Given the description of an element on the screen output the (x, y) to click on. 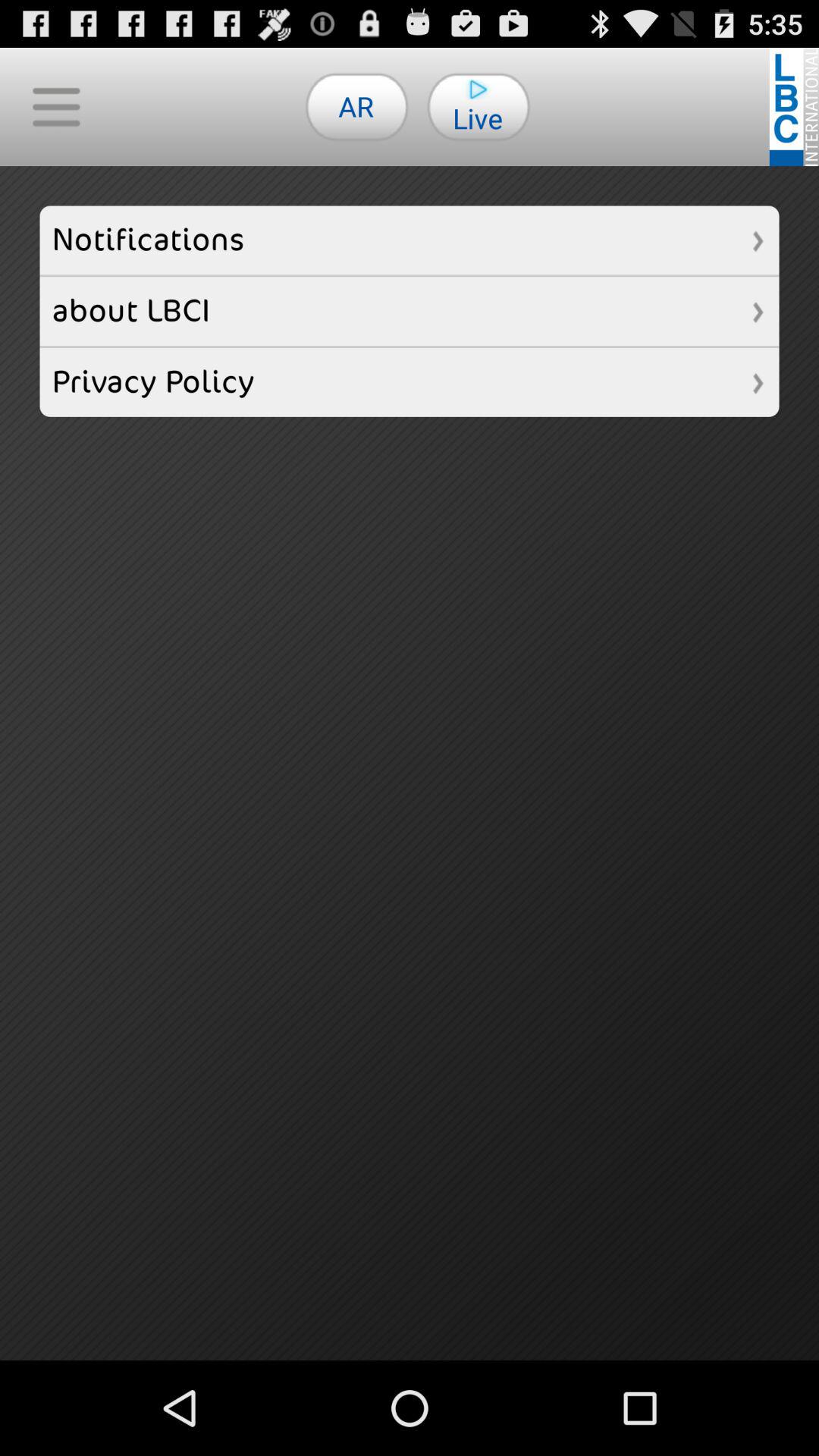
turn on the item at the top left corner (55, 106)
